Given the description of an element on the screen output the (x, y) to click on. 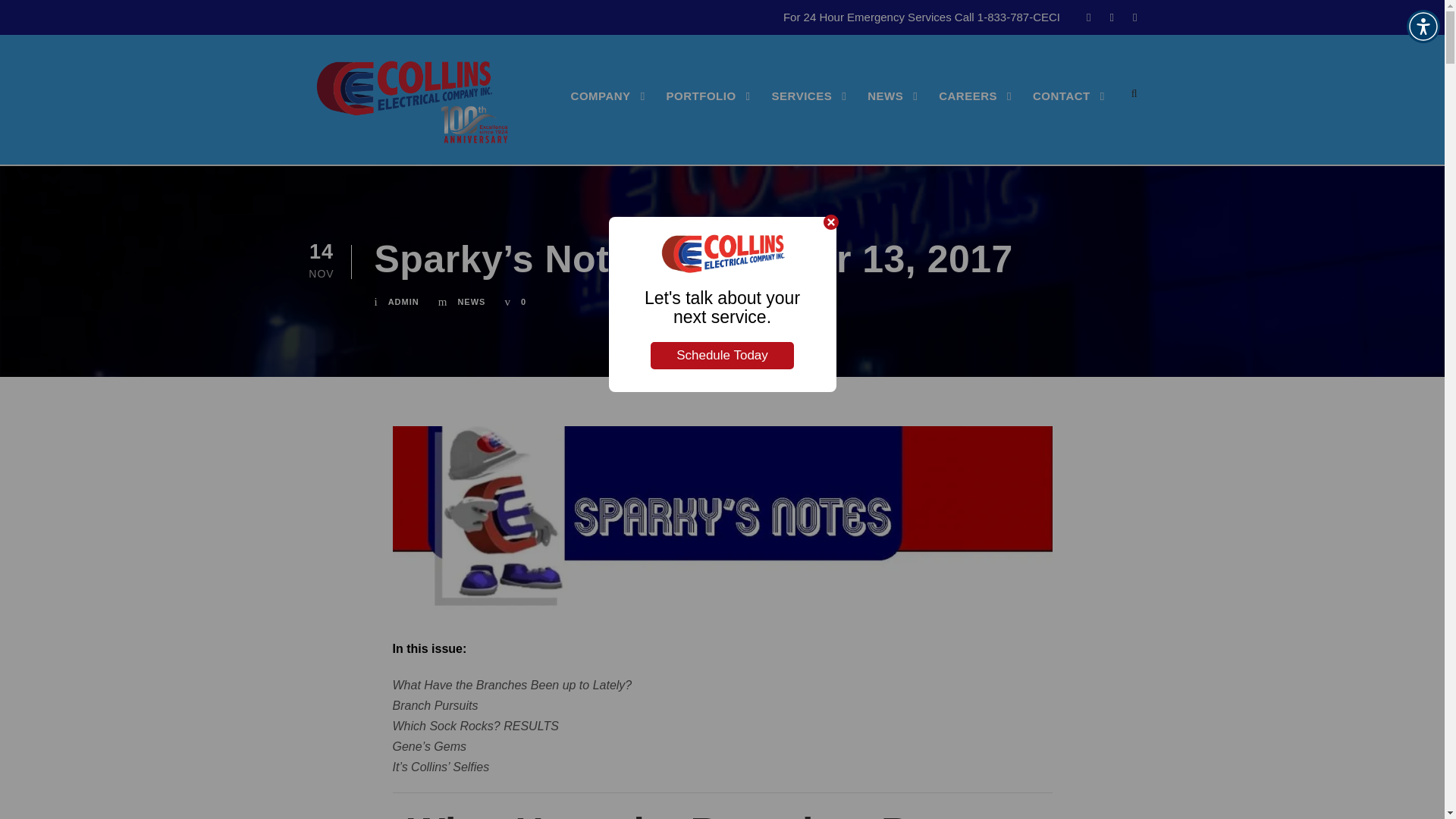
Posts by admin (403, 301)
Accessibility Menu (1422, 26)
